Given the description of an element on the screen output the (x, y) to click on. 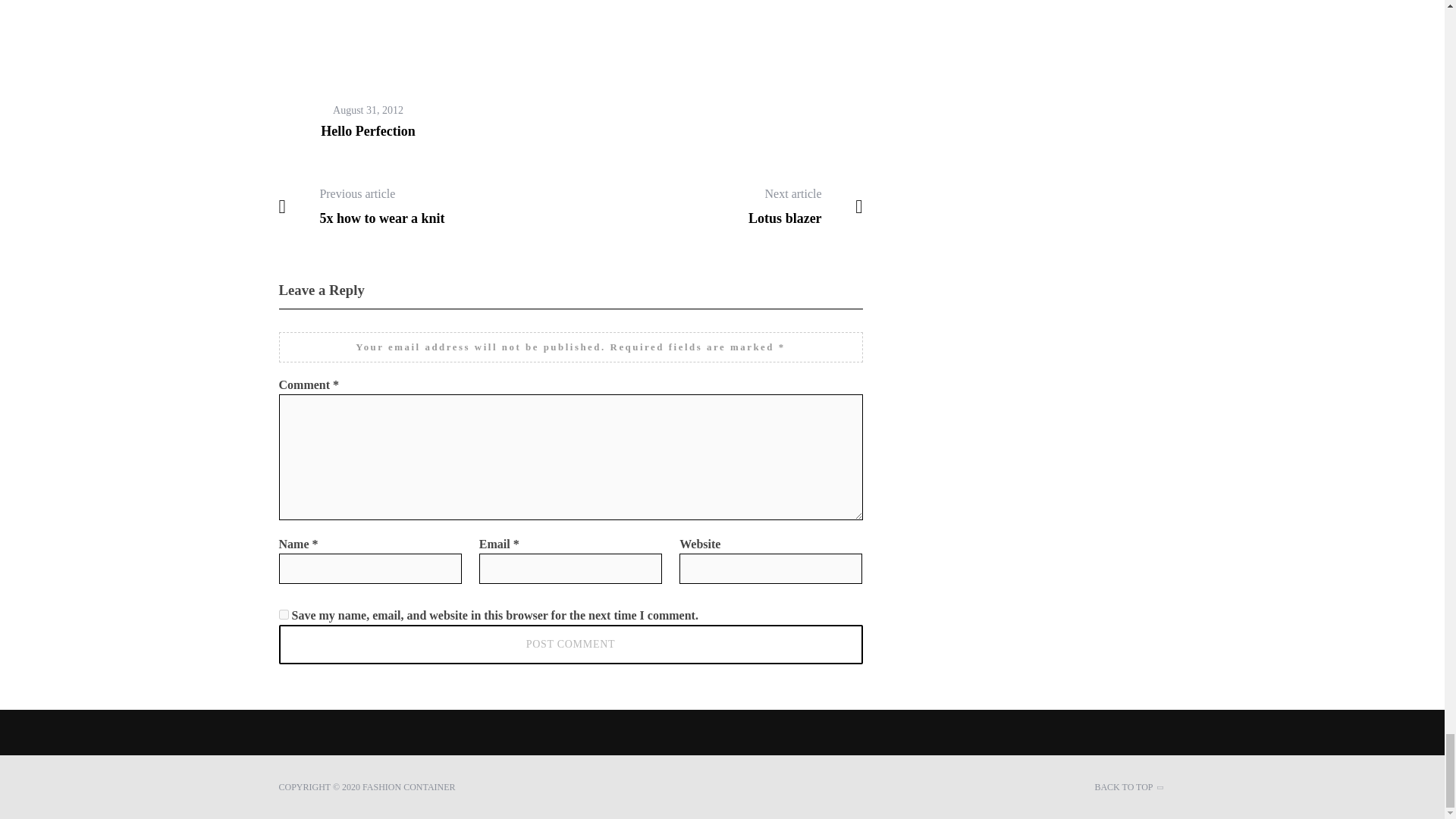
Post Comment (571, 644)
yes (283, 614)
